Given the description of an element on the screen output the (x, y) to click on. 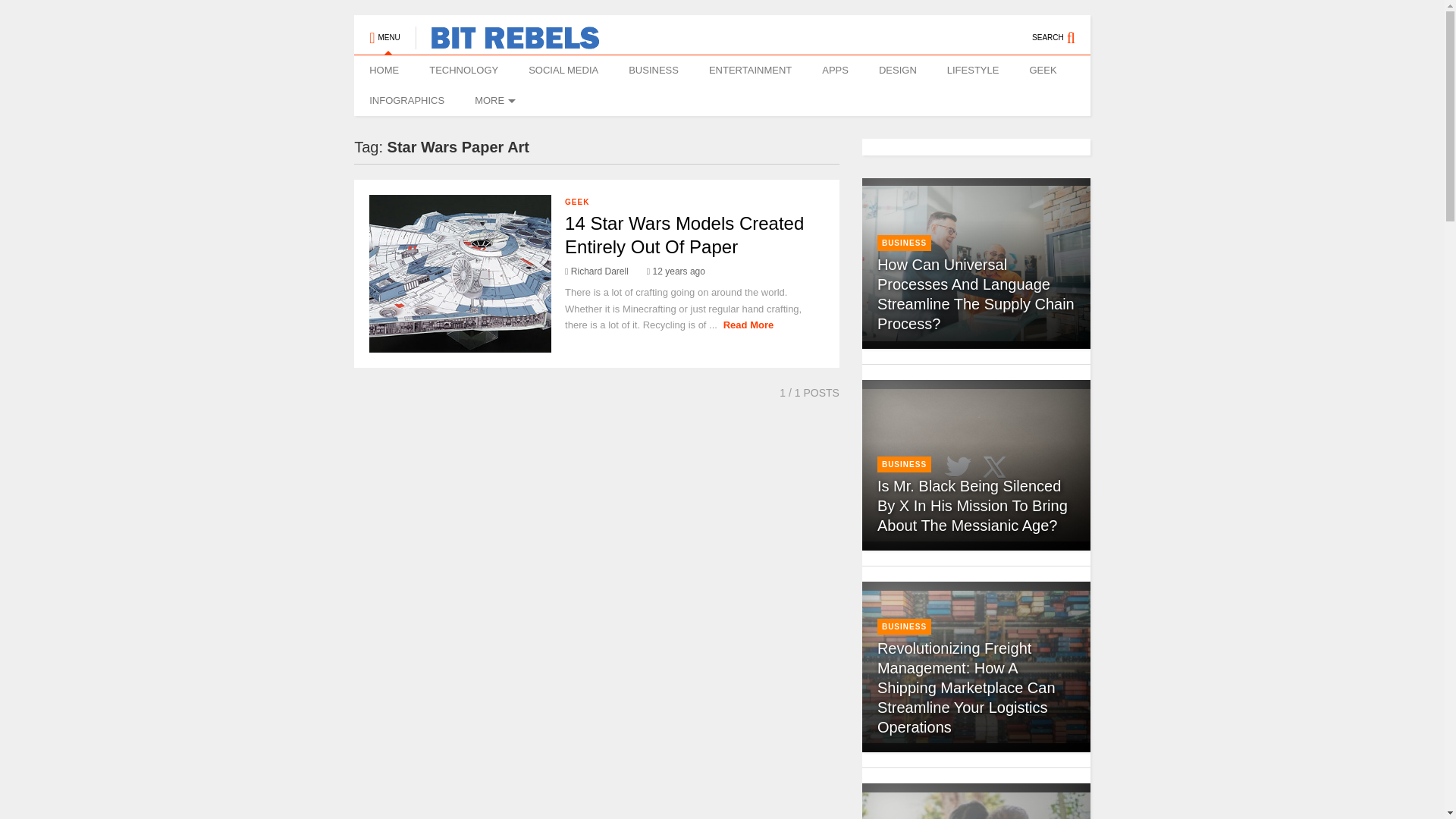
SEARCH (1061, 30)
Bit Rebels (506, 42)
MENU (383, 30)
GEEK (1042, 70)
MORE (493, 100)
HOME (383, 70)
INFOGRAPHICS (406, 100)
BUSINESS (653, 70)
14 Star Wars Models Created Entirely Out Of Paper (683, 234)
